Given the description of an element on the screen output the (x, y) to click on. 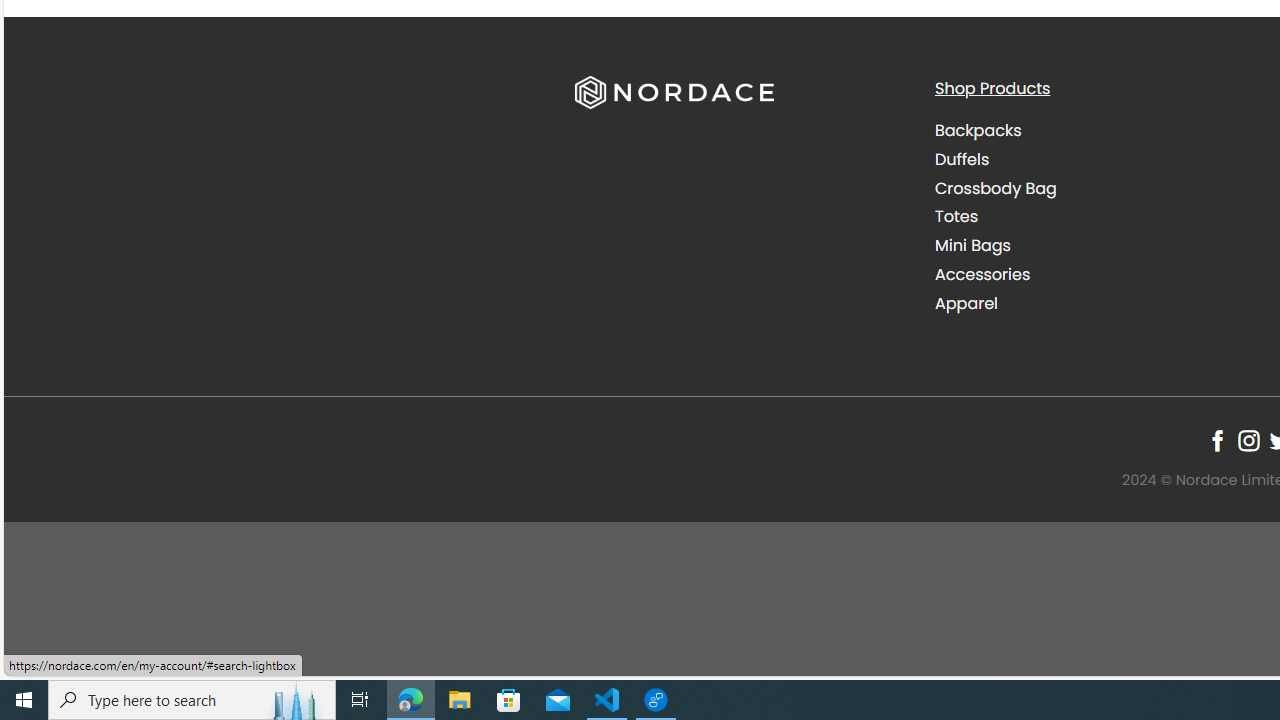
Crossbody Bag (1099, 188)
Backpacks (977, 130)
Apparel (966, 302)
Duffels (1099, 159)
Backpacks (1099, 131)
Mini Bags (972, 245)
Follow on Instagram (1248, 440)
Follow on Facebook (1217, 440)
Crossbody Bag (995, 187)
Accessories (1099, 274)
Accessories (982, 273)
Mini Bags (1099, 246)
Totes (1099, 216)
Totes (955, 216)
Apparel (1099, 303)
